Given the description of an element on the screen output the (x, y) to click on. 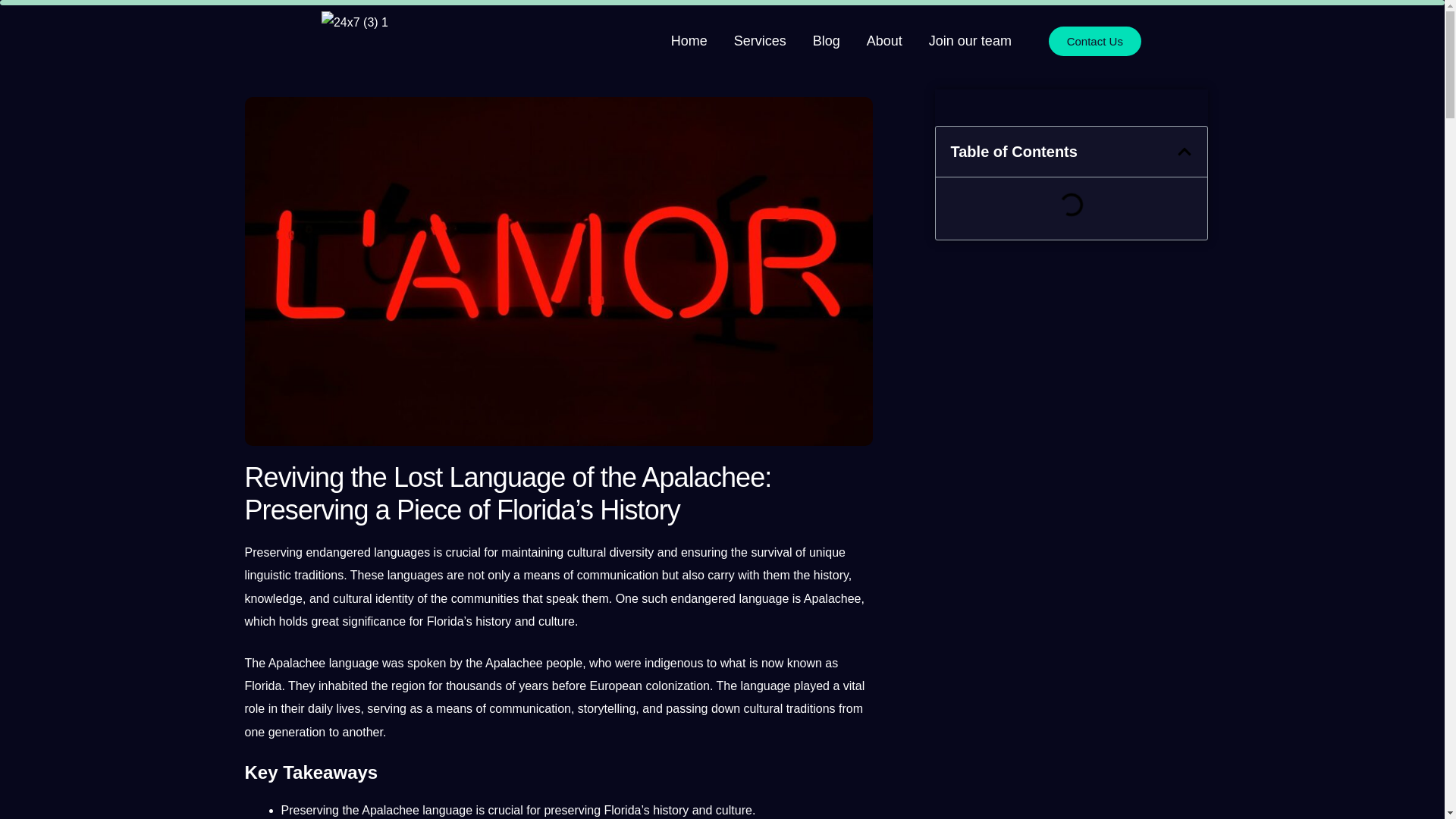
unique (827, 552)
Home (689, 40)
About (884, 40)
languages (401, 552)
Services (759, 40)
Join our team (969, 40)
cultural (587, 552)
Contact Us (1094, 40)
